Given the description of an element on the screen output the (x, y) to click on. 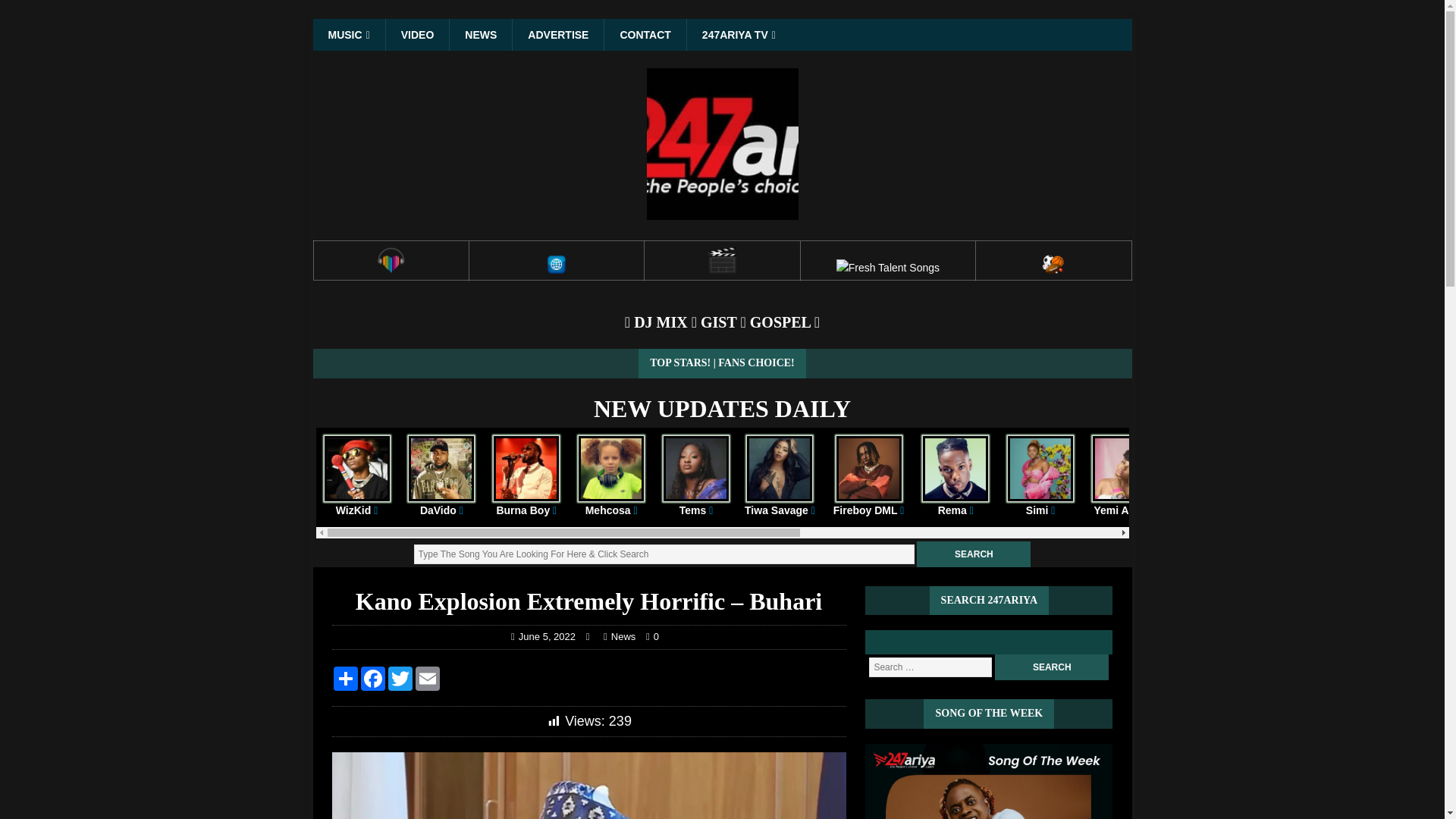
NEWS (480, 34)
Search (1051, 667)
247ARIYA TV (737, 34)
MUSIC (348, 34)
CONTACT (644, 34)
ADVERTISE (558, 34)
Search (973, 554)
VIDEO (417, 34)
Search (1051, 667)
Song Of The Week (988, 781)
